Given the description of an element on the screen output the (x, y) to click on. 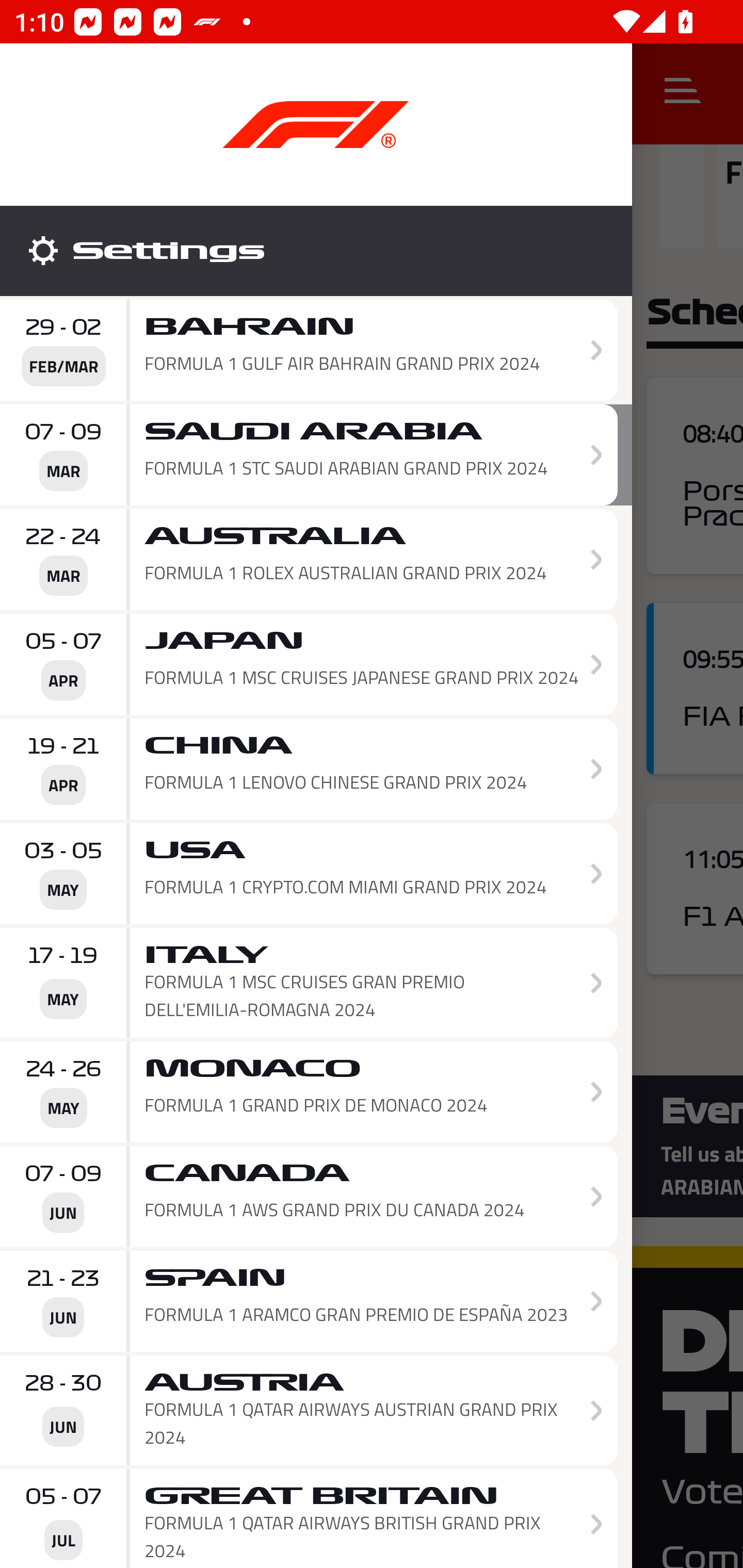
Settings (316, 250)
